Given the description of an element on the screen output the (x, y) to click on. 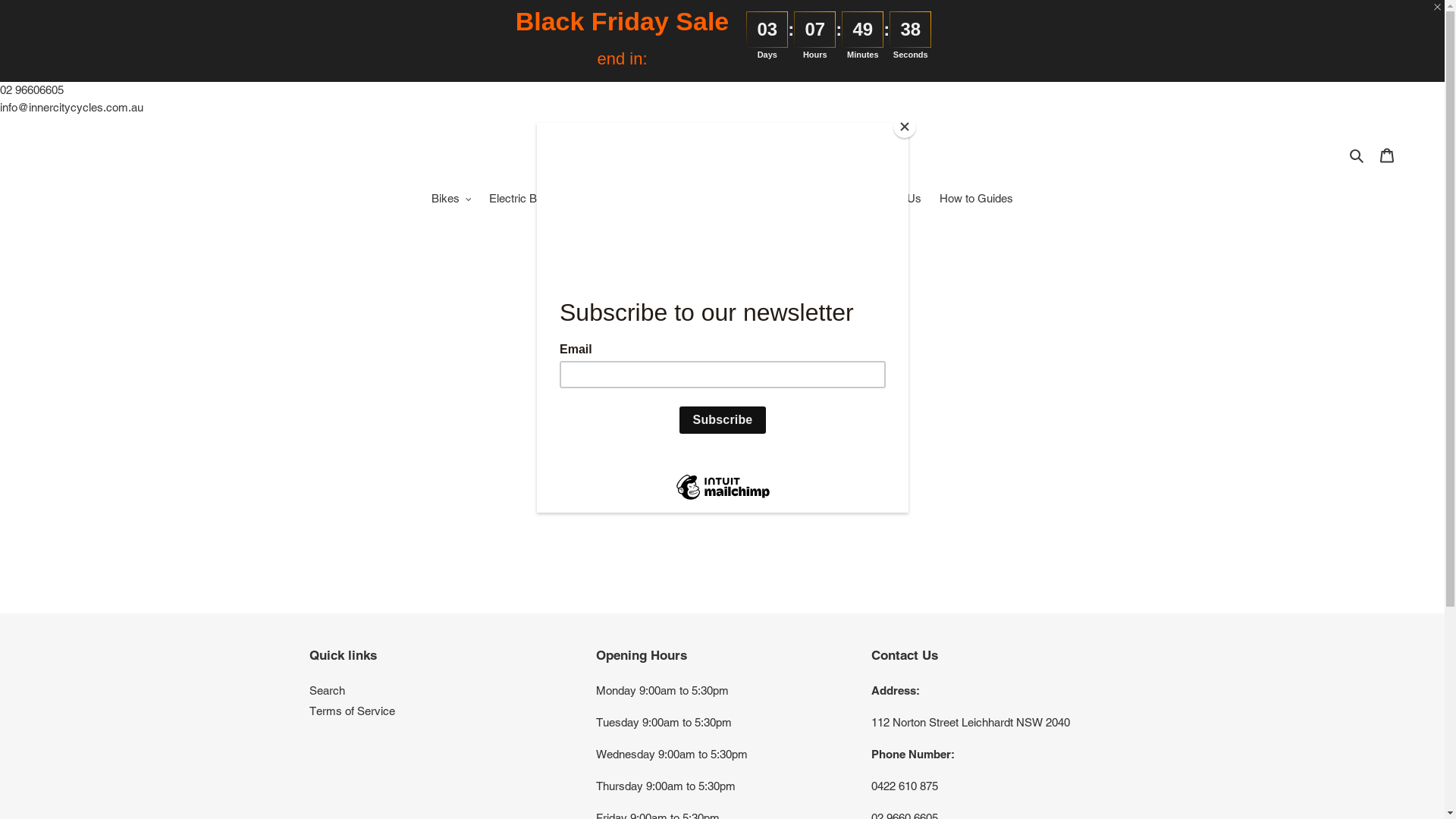
Workshop Element type: text (821, 199)
Bikes Element type: text (451, 199)
Cart Element type: text (1386, 154)
Search Element type: text (327, 690)
Contact Us Element type: text (892, 199)
Electric Bikes Element type: text (522, 199)
Parts Element type: text (759, 199)
How to Guides Element type: text (975, 199)
INNER CITY CYCLES Element type: text (721, 154)
02 96606605 Element type: text (31, 89)
info@innercitycycles.com.au Element type: text (71, 106)
CONTINUE SHOPPING Element type: text (722, 461)
Car Racks Element type: text (602, 199)
Search Element type: text (1357, 154)
Terms of Service Element type: text (352, 710)
Accessories Element type: text (684, 199)
